Given the description of an element on the screen output the (x, y) to click on. 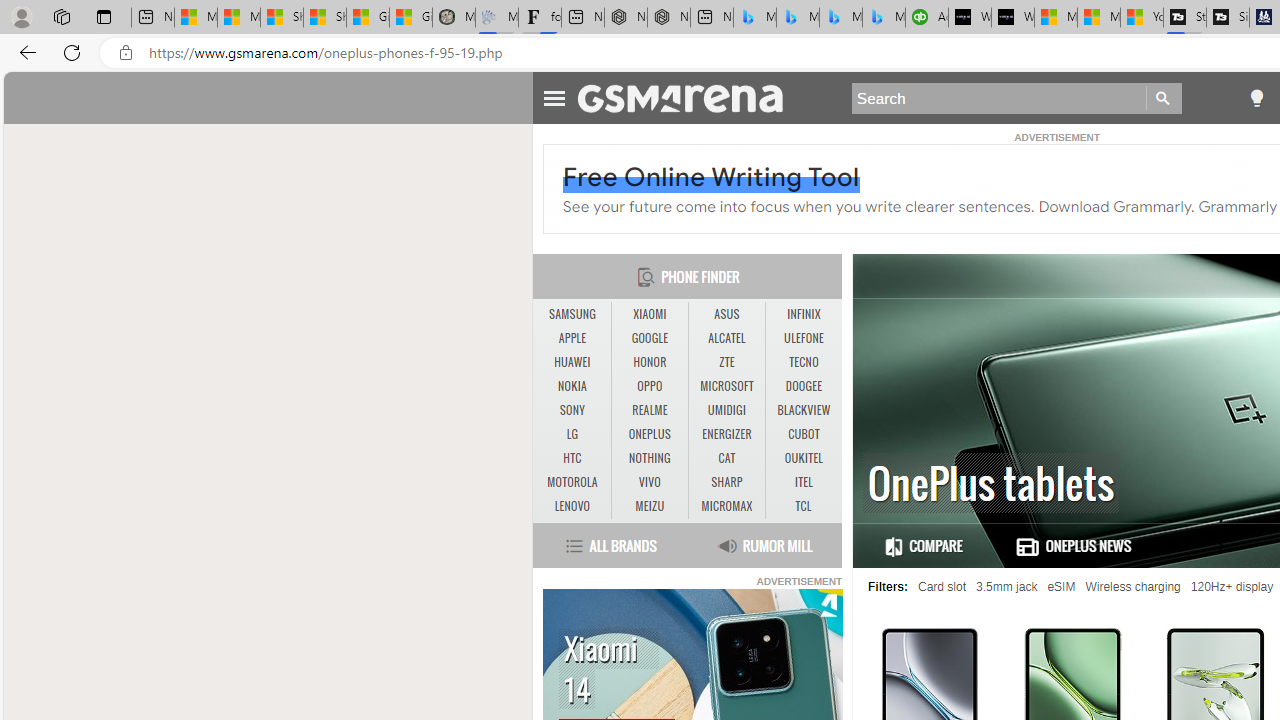
Accounting Software for Accountants, CPAs and Bookkeepers (927, 17)
MICROMAX (726, 506)
LG (571, 434)
ULEFONE (803, 339)
eSIM (1061, 587)
ITEL (803, 482)
ASUS (726, 314)
Microsoft Bing Travel - Stays in Bangkok, Bangkok, Thailand (798, 17)
